Given the description of an element on the screen output the (x, y) to click on. 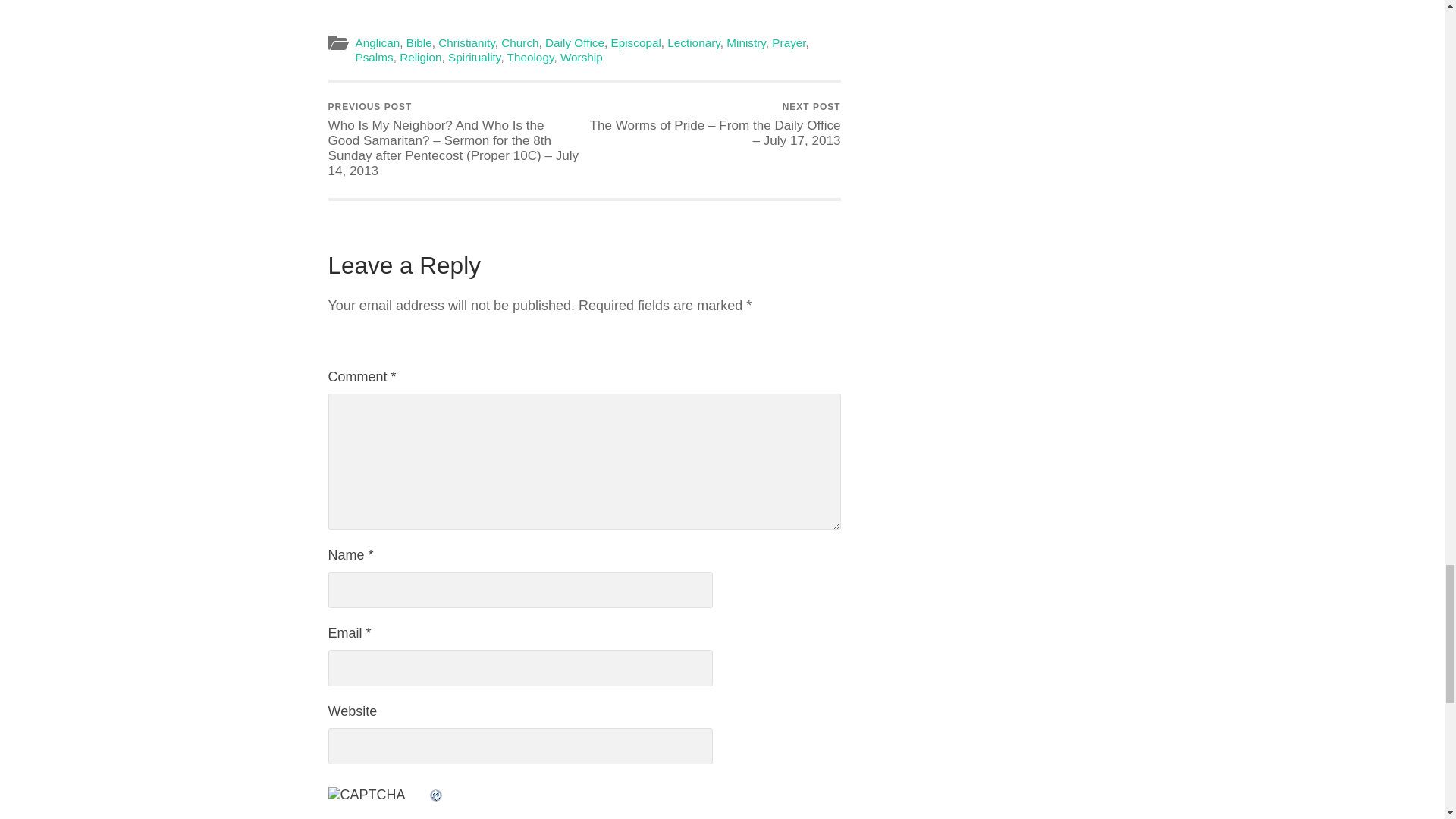
Prayer (788, 42)
Spirituality (474, 56)
CAPTCHA (377, 803)
Ministry (745, 42)
Lectionary (692, 42)
Worship (581, 56)
Episcopal (635, 42)
Theology (530, 56)
Refresh (436, 794)
Religion (419, 56)
Church (519, 42)
Psalms (374, 56)
Bible (419, 42)
Anglican (376, 42)
Daily Office (574, 42)
